Given the description of an element on the screen output the (x, y) to click on. 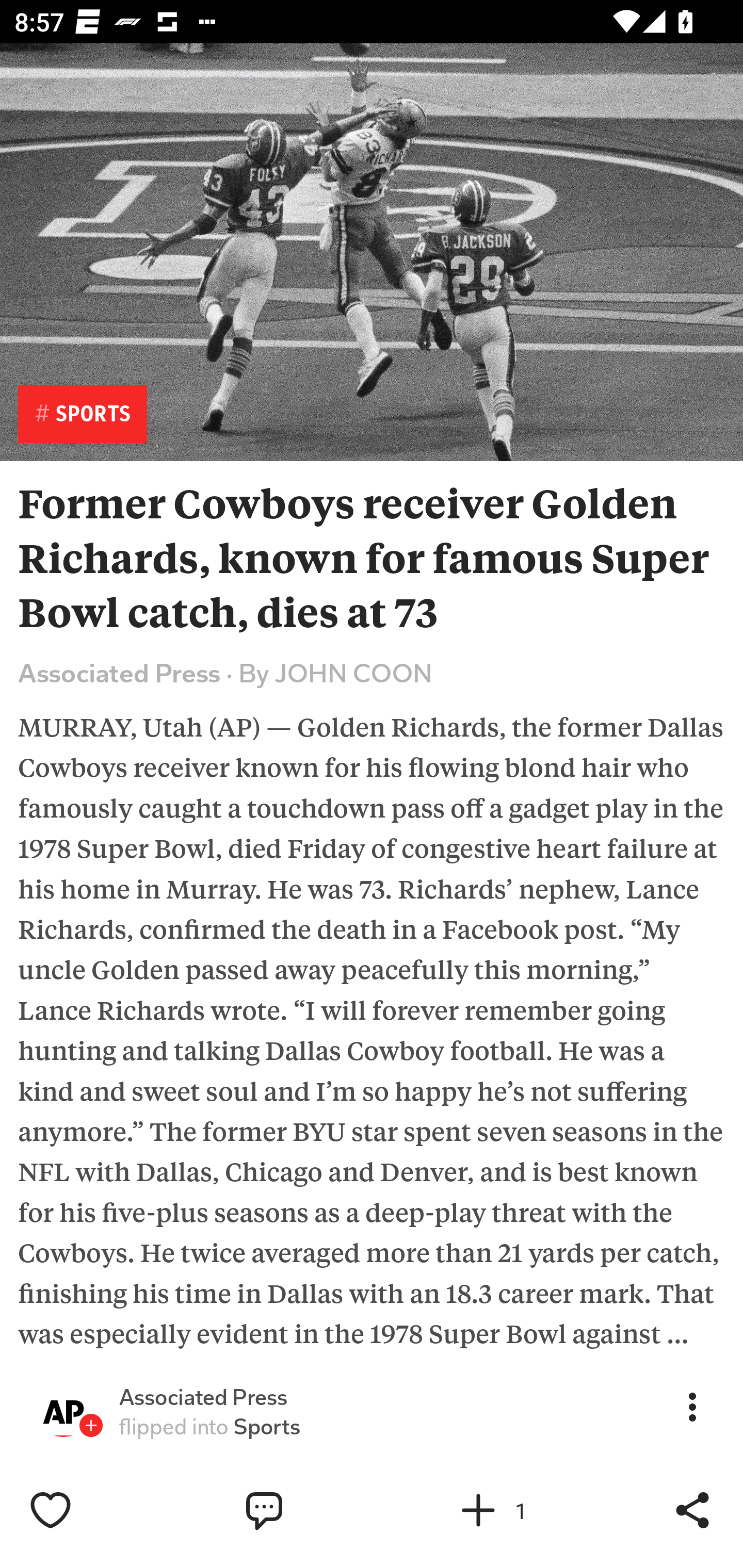
# SPORTS (82, 414)
More (692, 1406)
Associated Press (203, 1397)
flipped into Sports (209, 1426)
Like (93, 1509)
Write a comment… (307, 1509)
Flip into Magazine 1 (521, 1509)
Share (692, 1509)
